Given the description of an element on the screen output the (x, y) to click on. 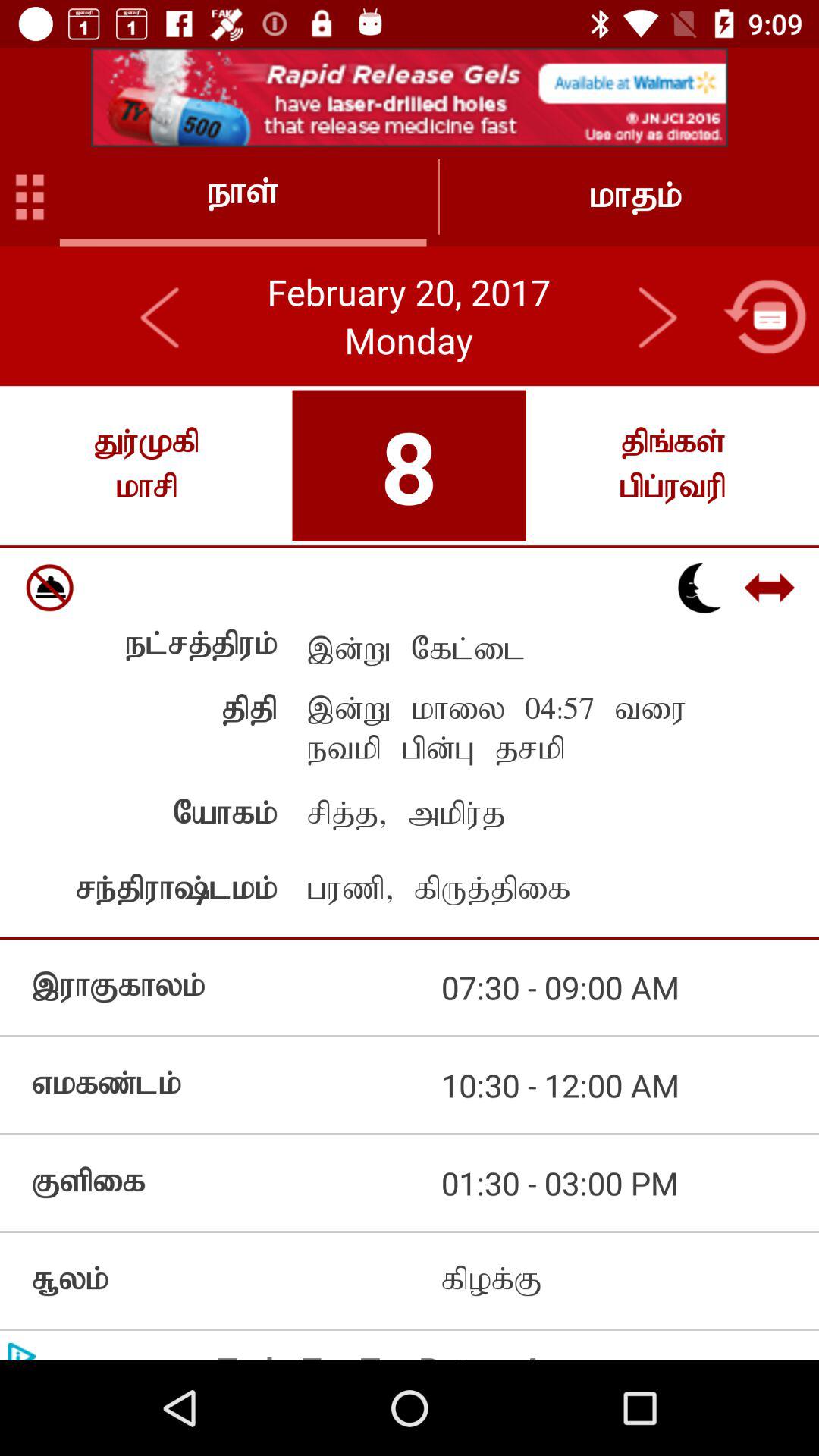
advertisement (409, 97)
